Given the description of an element on the screen output the (x, y) to click on. 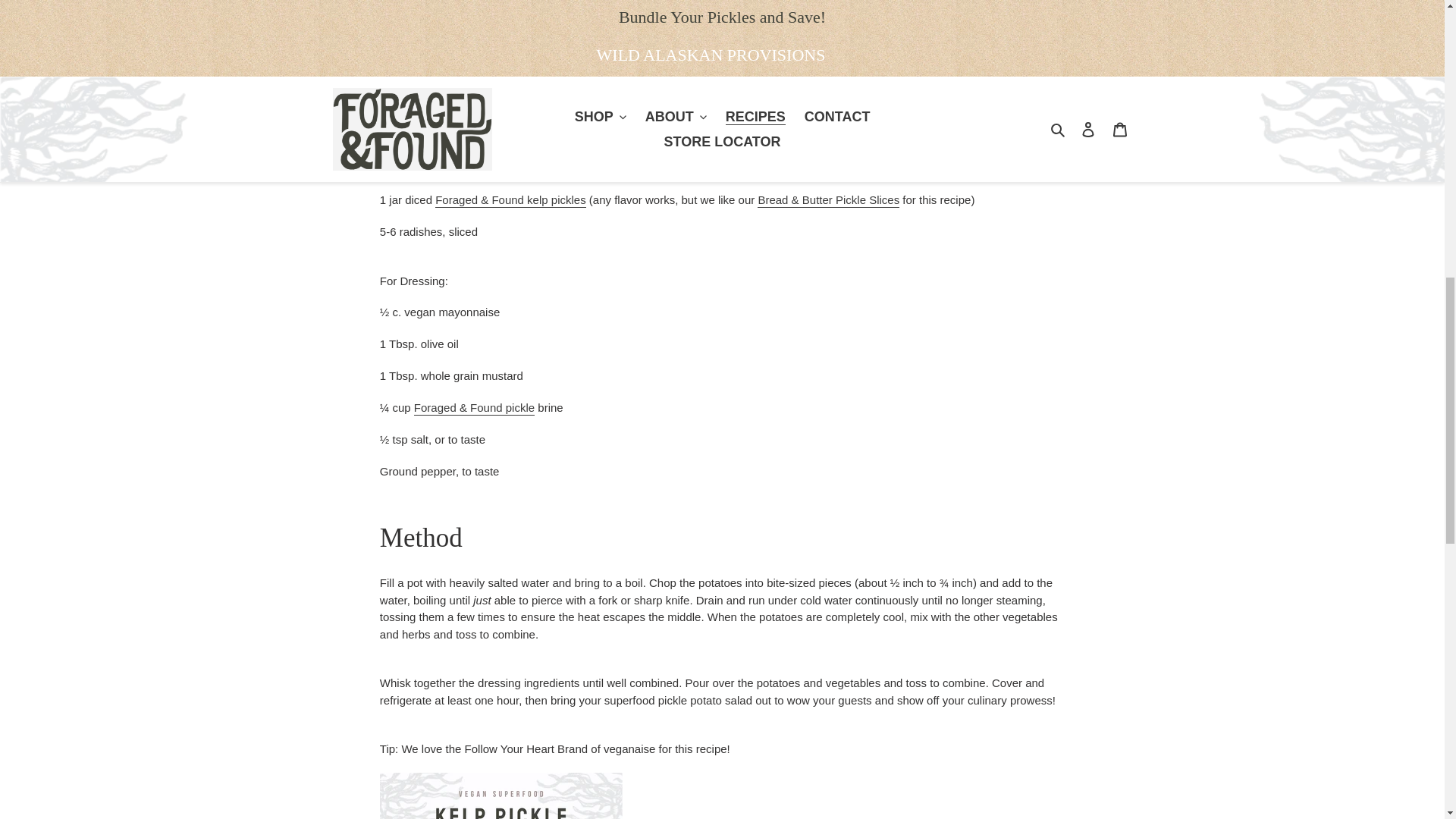
Pickle (510, 200)
BB Pickle (828, 200)
brine (473, 408)
